Given the description of an element on the screen output the (x, y) to click on. 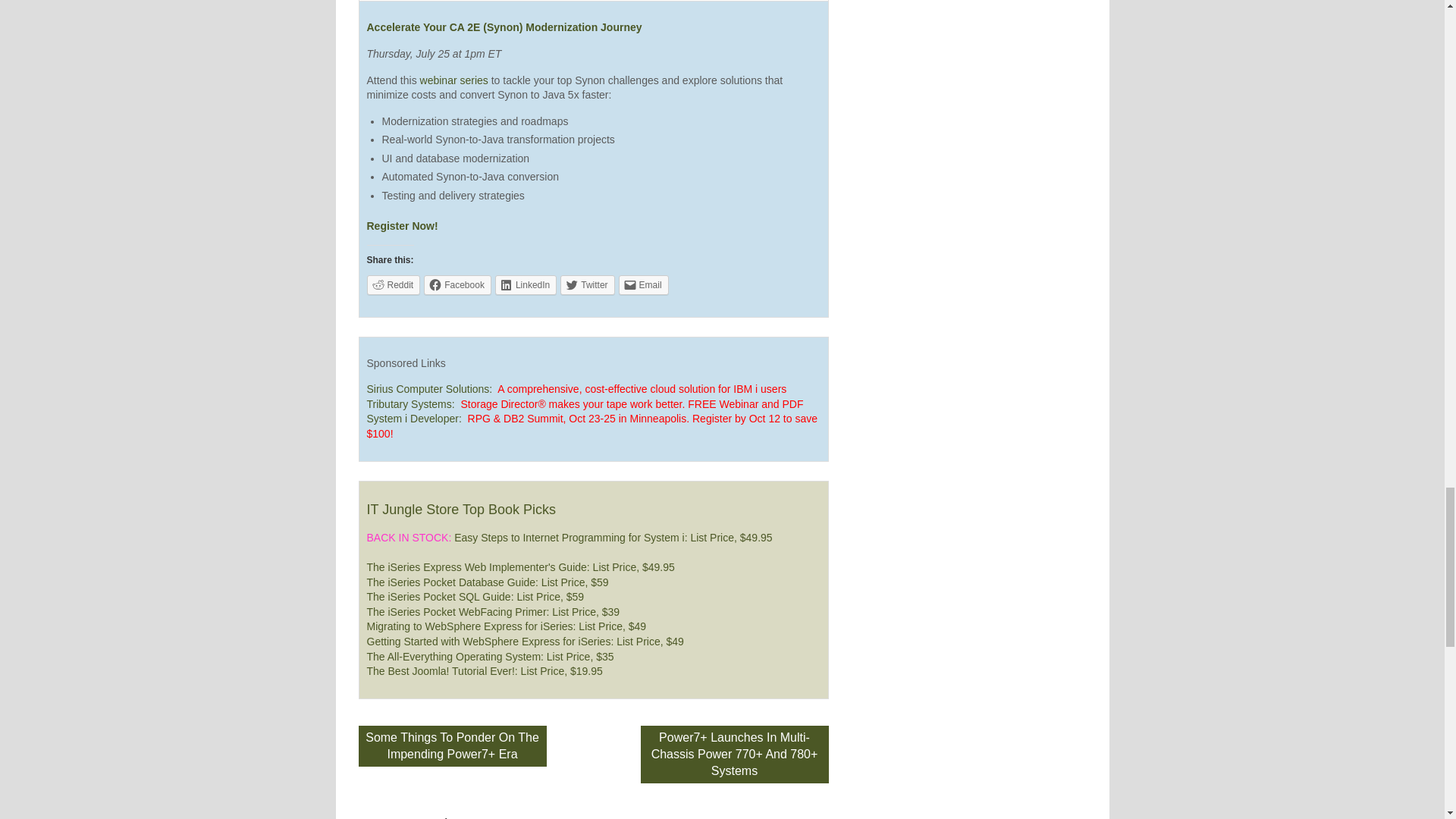
Email (643, 284)
Register Now! (402, 225)
webinar series (453, 80)
LinkedIn (525, 284)
Click to share on LinkedIn (525, 284)
Facebook (457, 284)
Click to email a link to a friend (643, 284)
IT Jungle Store Top Book Picks (461, 509)
Reddit (393, 284)
Click to share on Facebook (457, 284)
Click to share on Twitter (587, 284)
Twitter (587, 284)
Click to share on Reddit (393, 284)
